Given the description of an element on the screen output the (x, y) to click on. 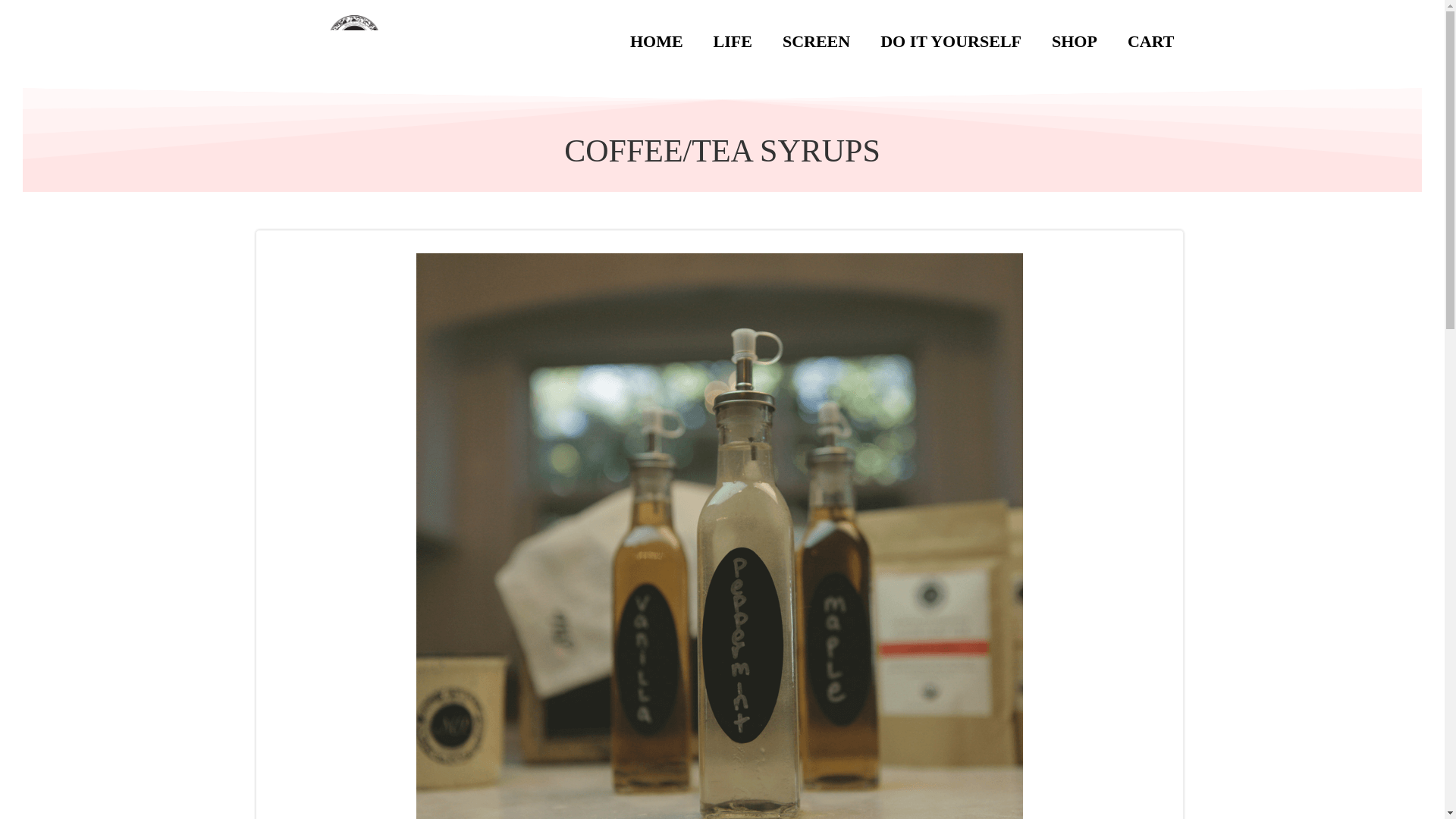
LIFE (732, 41)
SCREEN (816, 41)
HOME (656, 41)
DO IT YOURSELF (951, 41)
SHOP (1074, 41)
CART (1150, 41)
